Given the description of an element on the screen output the (x, y) to click on. 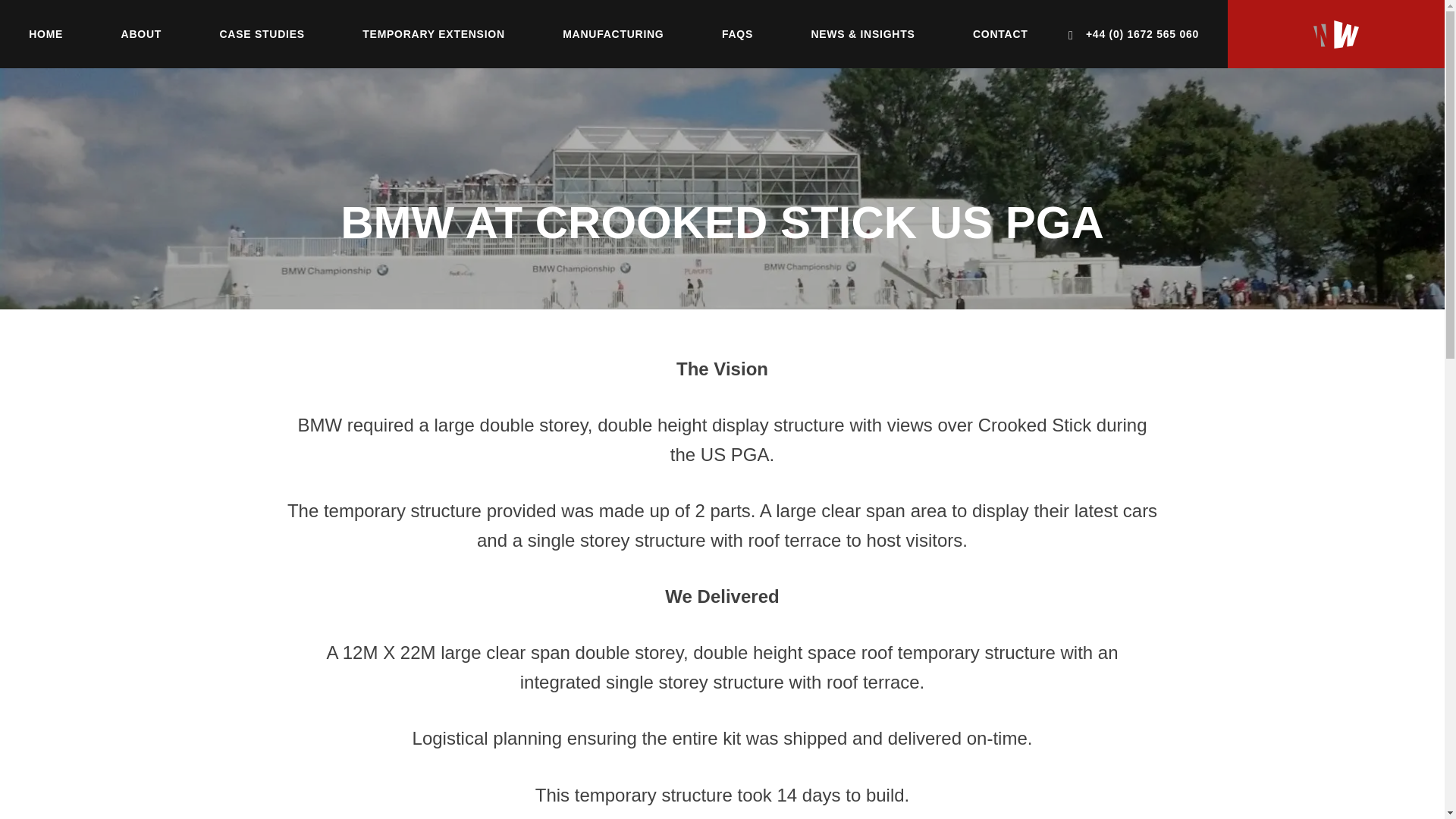
CASE STUDIES (261, 33)
ABOUT (140, 33)
CONTACT (1000, 33)
FAQS (738, 33)
Send Enquiry (695, 710)
MANUFACTURING (613, 33)
Send Enquiry (695, 710)
TEMPORARY EXTENSION (433, 33)
HOME (45, 33)
